Given the description of an element on the screen output the (x, y) to click on. 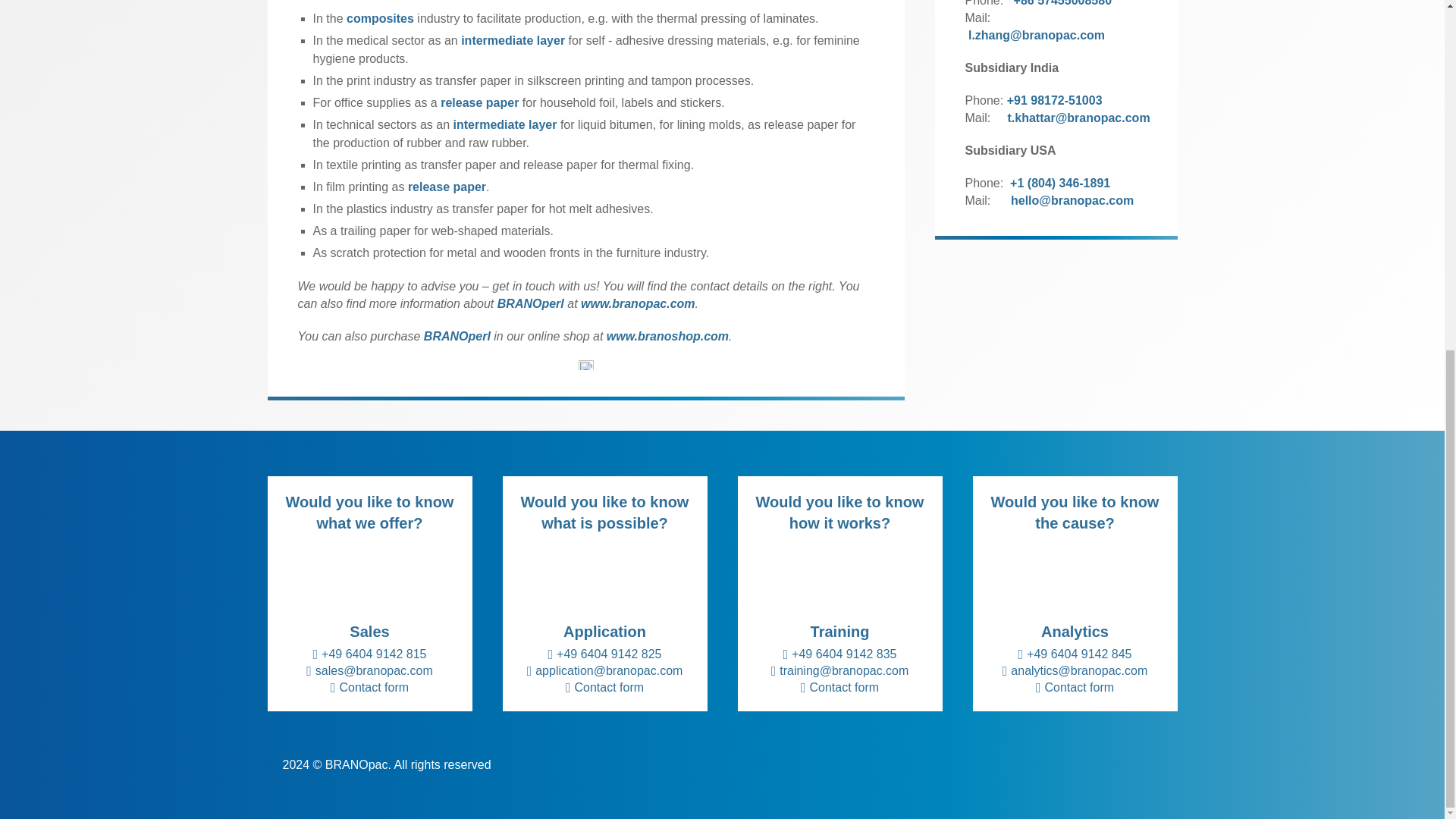
Composites (379, 18)
